Given the description of an element on the screen output the (x, y) to click on. 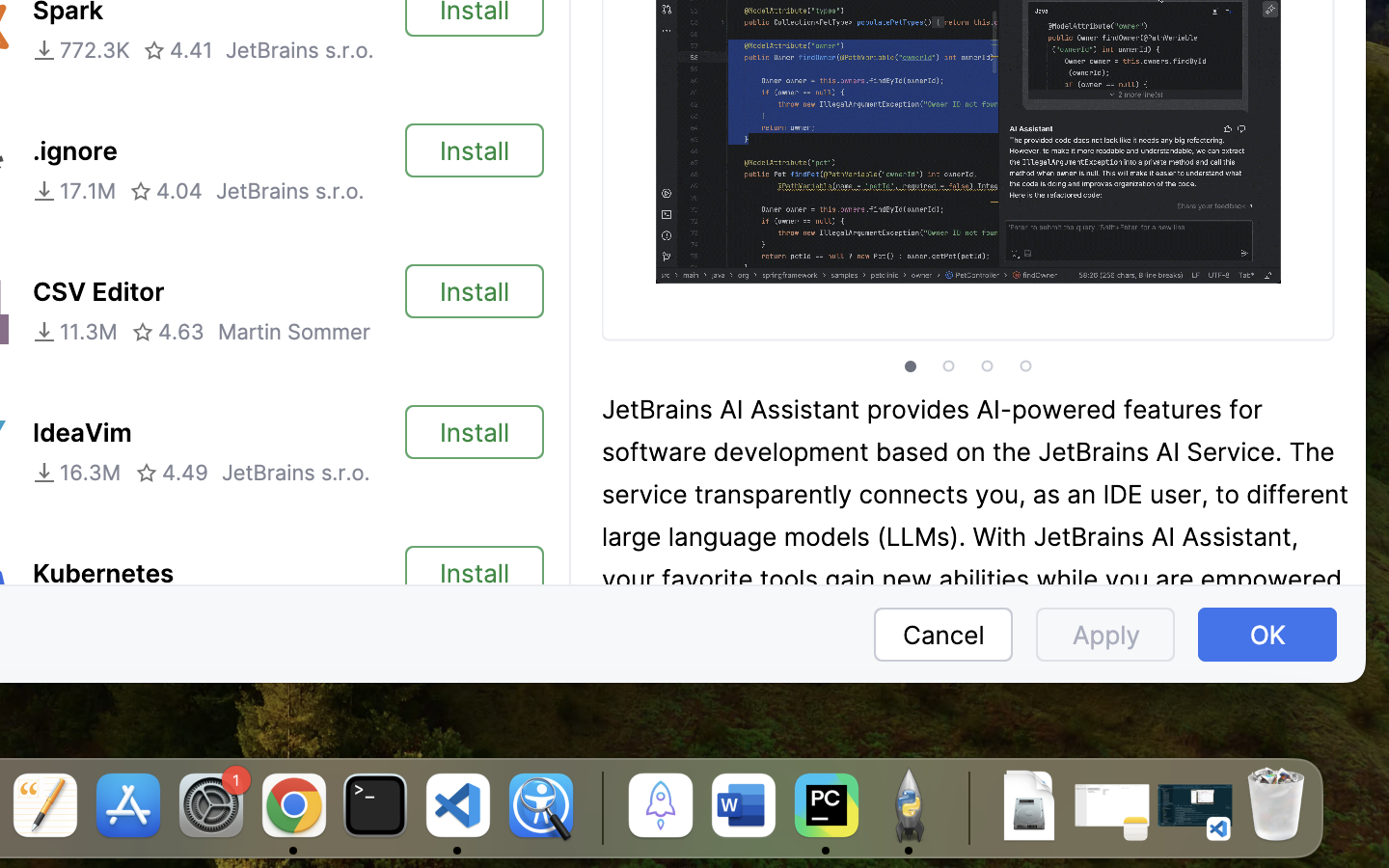
4.41 Element type: AXStaticText (177, 49)
16.3M Element type: AXStaticText (76, 472)
